Given the description of an element on the screen output the (x, y) to click on. 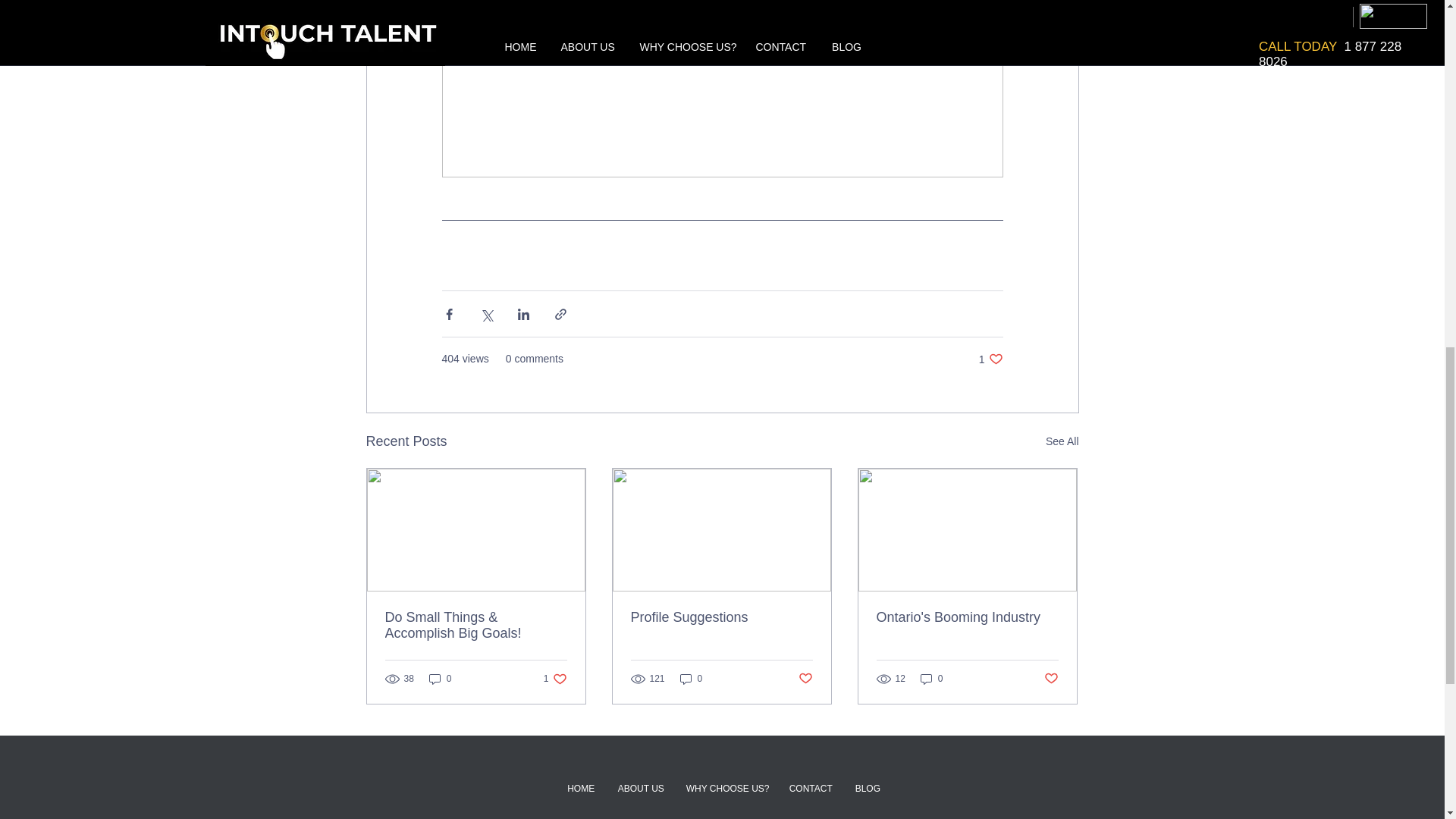
WHY CHOOSE US? (726, 788)
Post not marked as liked (1050, 678)
See All (1061, 441)
BLOG (555, 678)
0 (867, 788)
Post not marked as liked (691, 678)
Profile Suggestions (990, 359)
0 (804, 678)
ABOUT US (721, 617)
CONTACT (931, 678)
0 (641, 788)
HOME (810, 788)
Ontario's Booming Industry (440, 678)
